Given the description of an element on the screen output the (x, y) to click on. 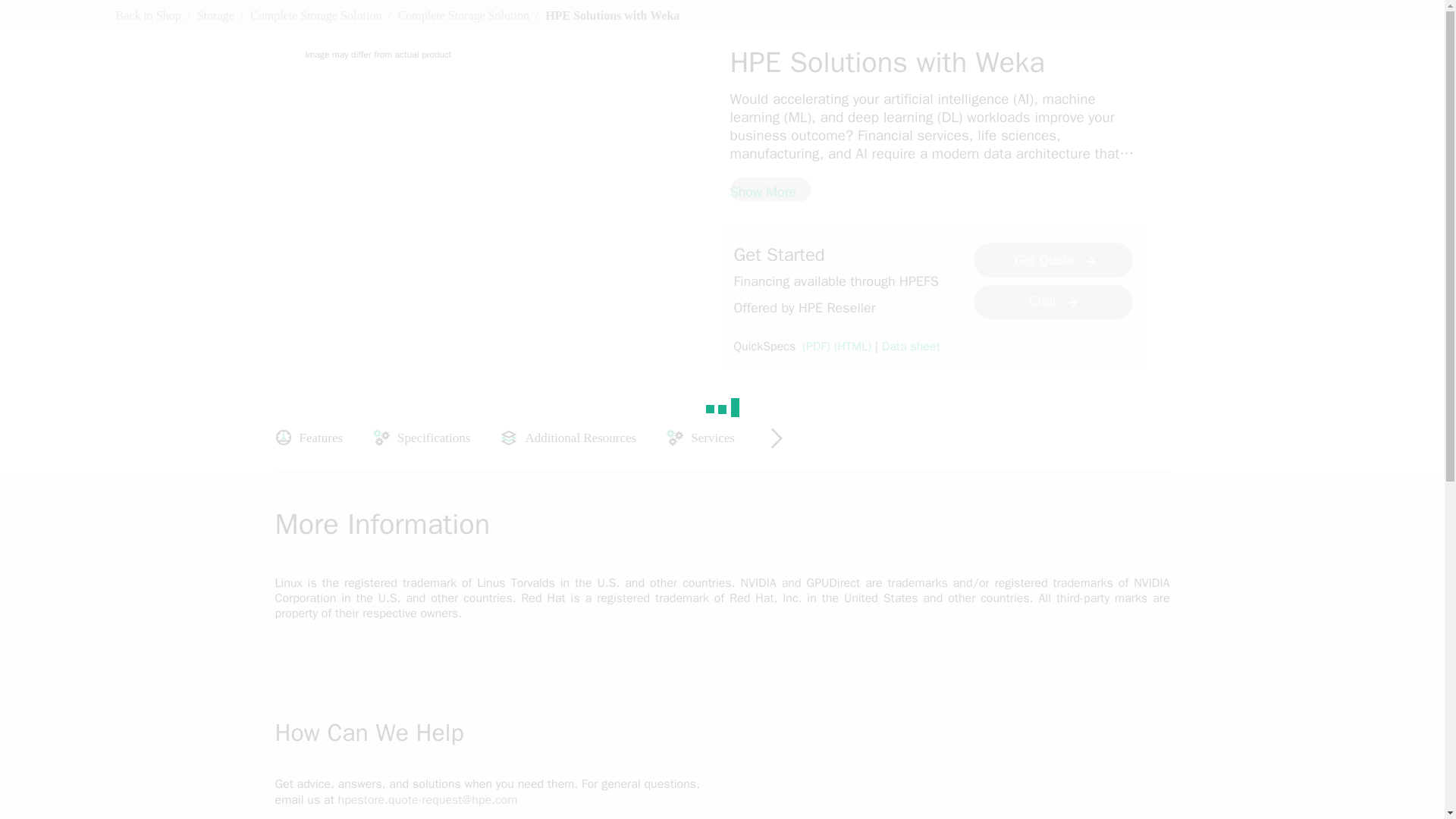
Show More (769, 189)
HPE Solutions (983, 171)
Chat (1053, 302)
Complete Storage Solution (315, 15)
Back to Shop (147, 15)
Complete Storage Solution (463, 15)
Data sheet (911, 346)
Get Quote (1053, 259)
Storage (215, 15)
